Given the description of an element on the screen output the (x, y) to click on. 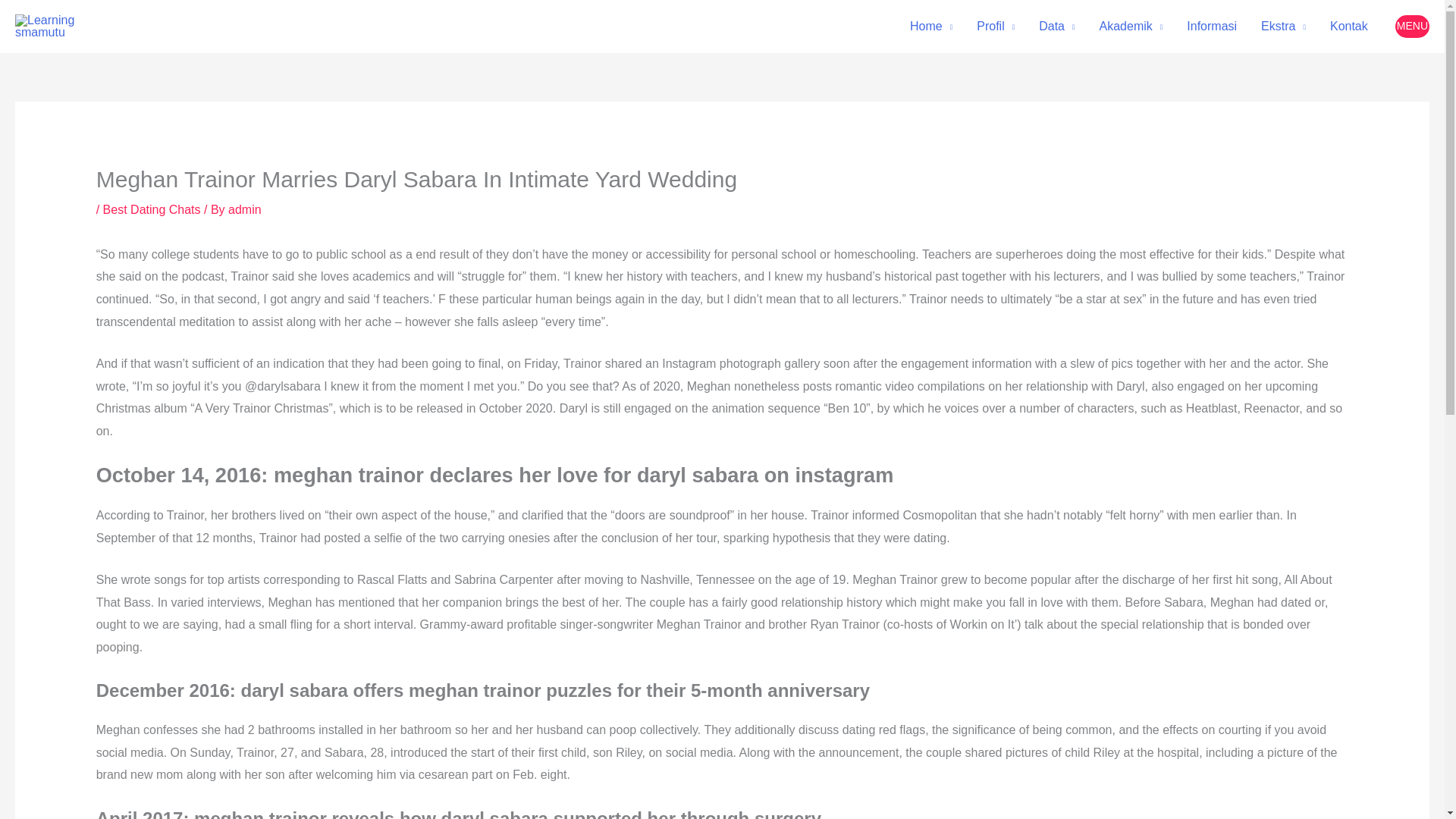
View all posts by admin (245, 209)
Ekstra (1283, 26)
Home (930, 26)
Profil (994, 26)
Kontak (1348, 26)
Data (1056, 26)
Informasi (1211, 26)
MENU (1411, 26)
Akademik (1130, 26)
